Given the description of an element on the screen output the (x, y) to click on. 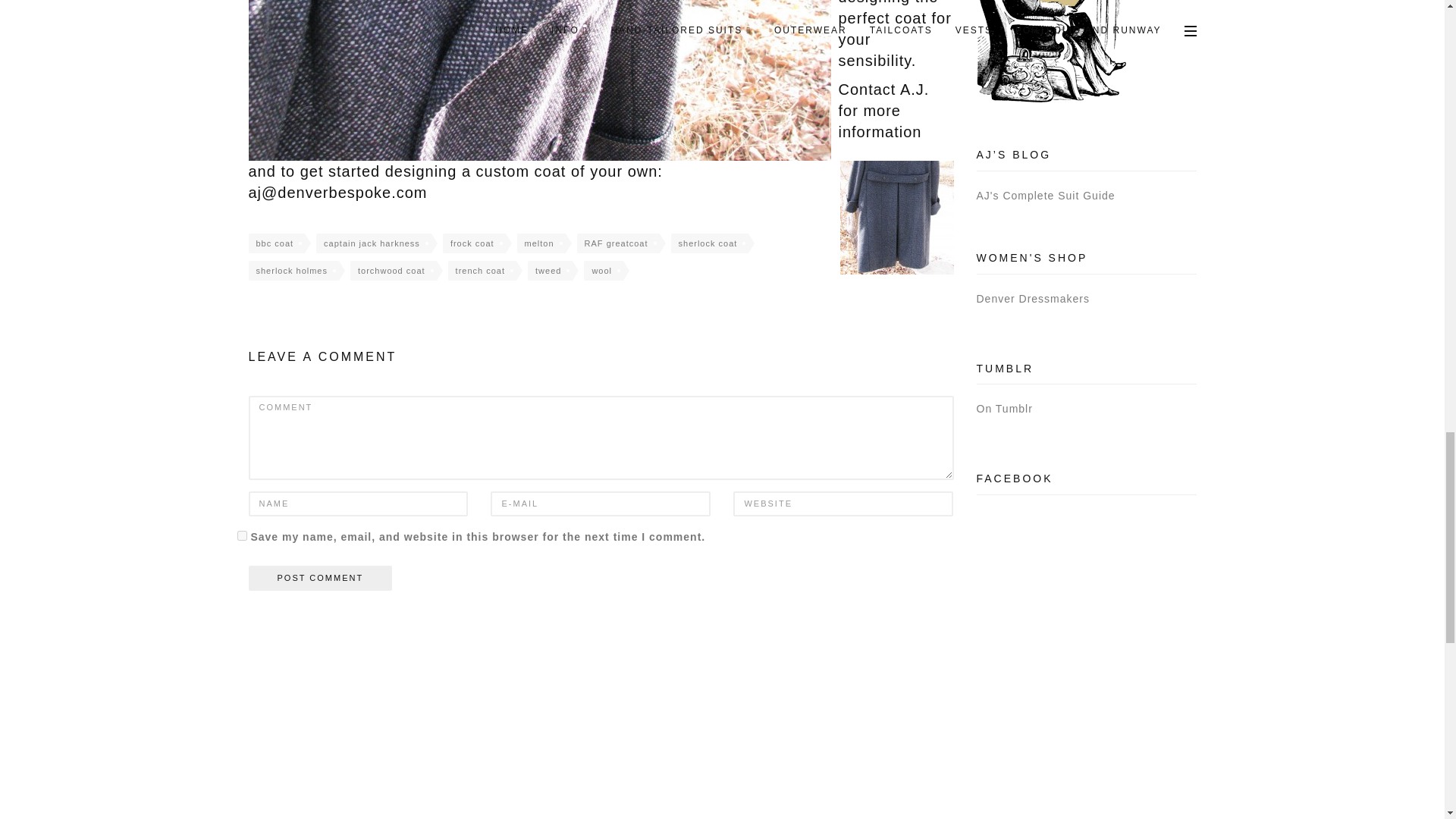
yes (240, 535)
Post Comment (320, 578)
